Given the description of an element on the screen output the (x, y) to click on. 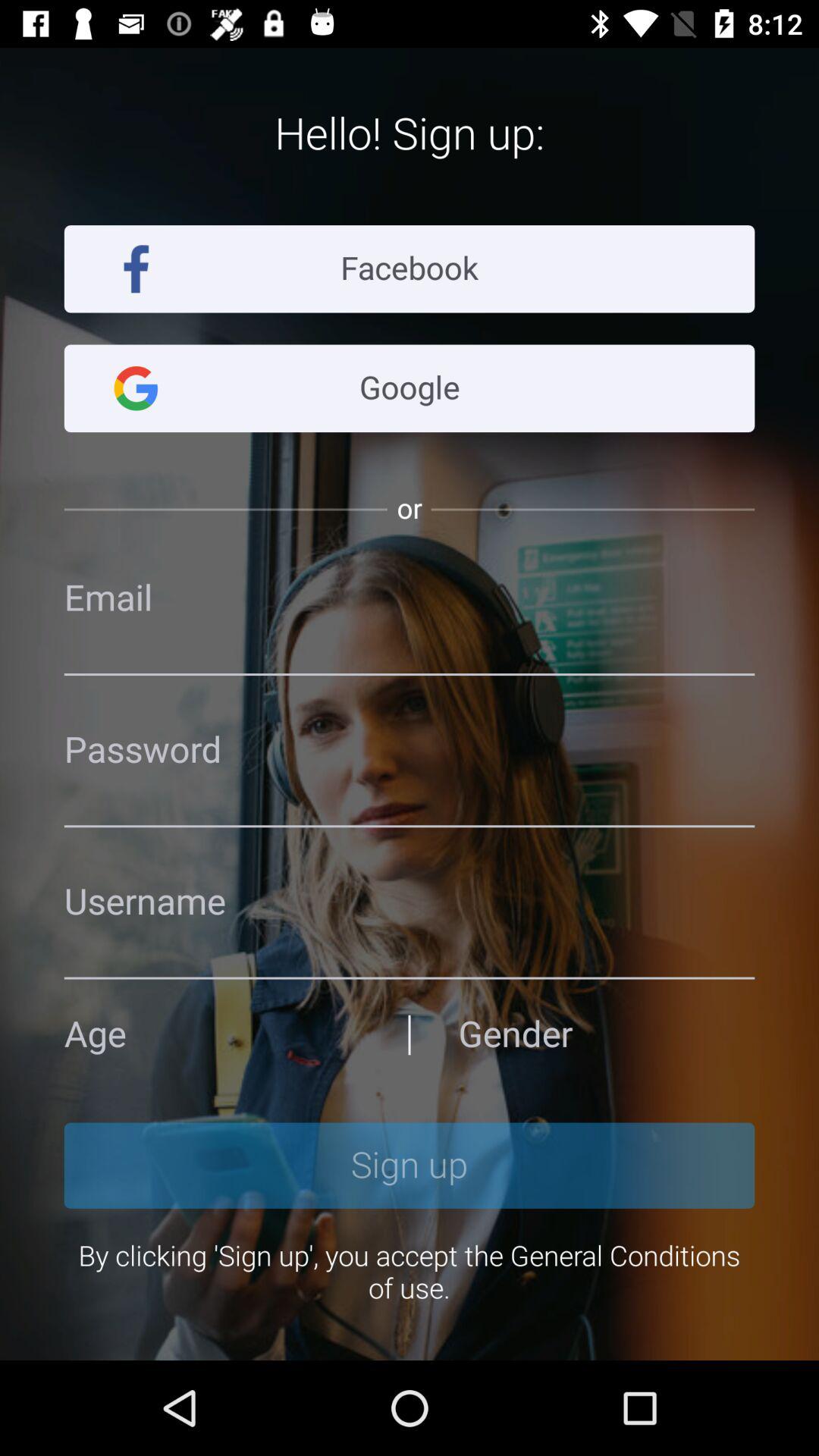
indicate button (212, 1034)
